Given the description of an element on the screen output the (x, y) to click on. 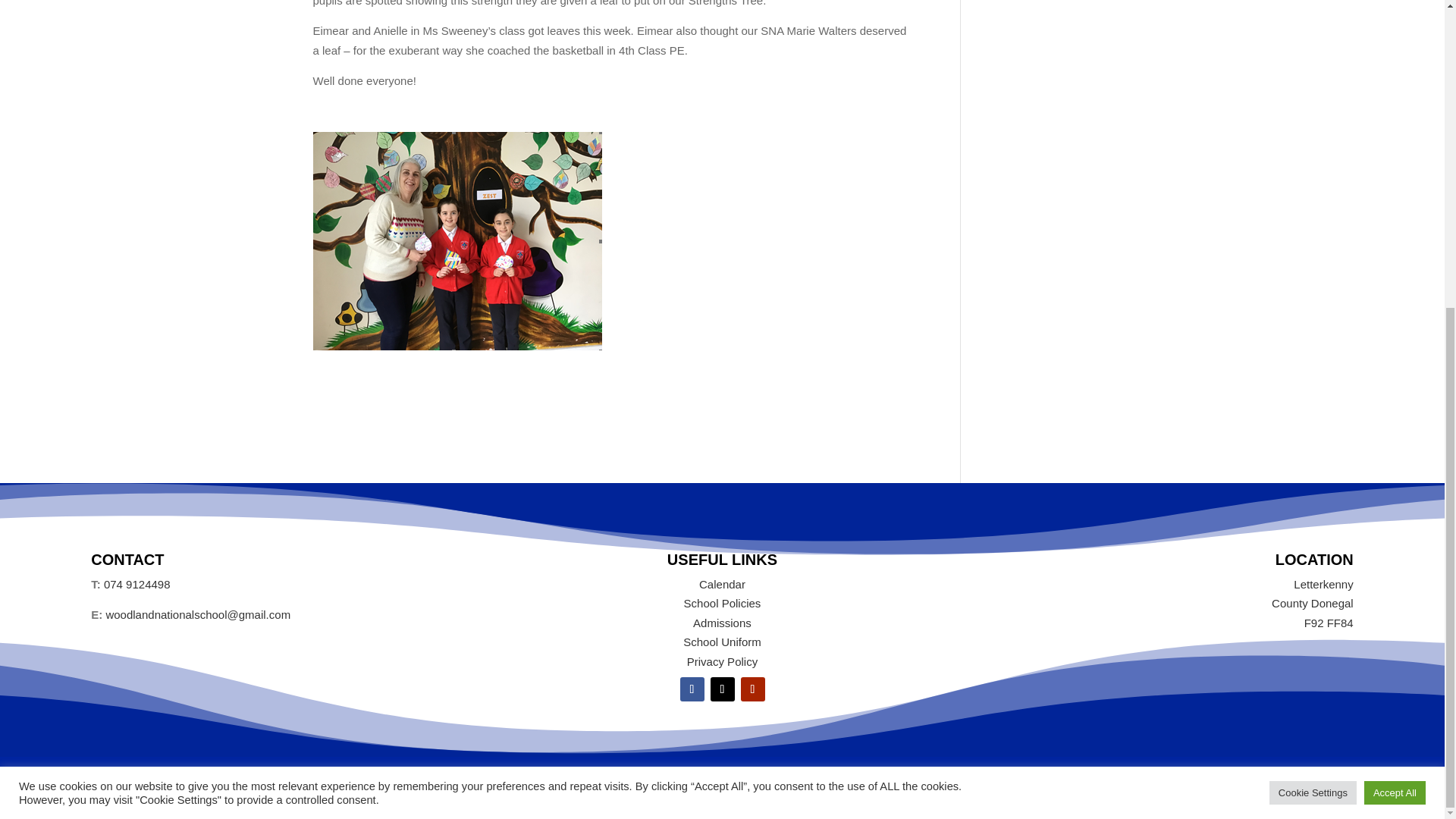
zesty (457, 240)
Follow on Facebook (691, 689)
Follow on Youtube (751, 689)
Follow on X (721, 689)
